Given the description of an element on the screen output the (x, y) to click on. 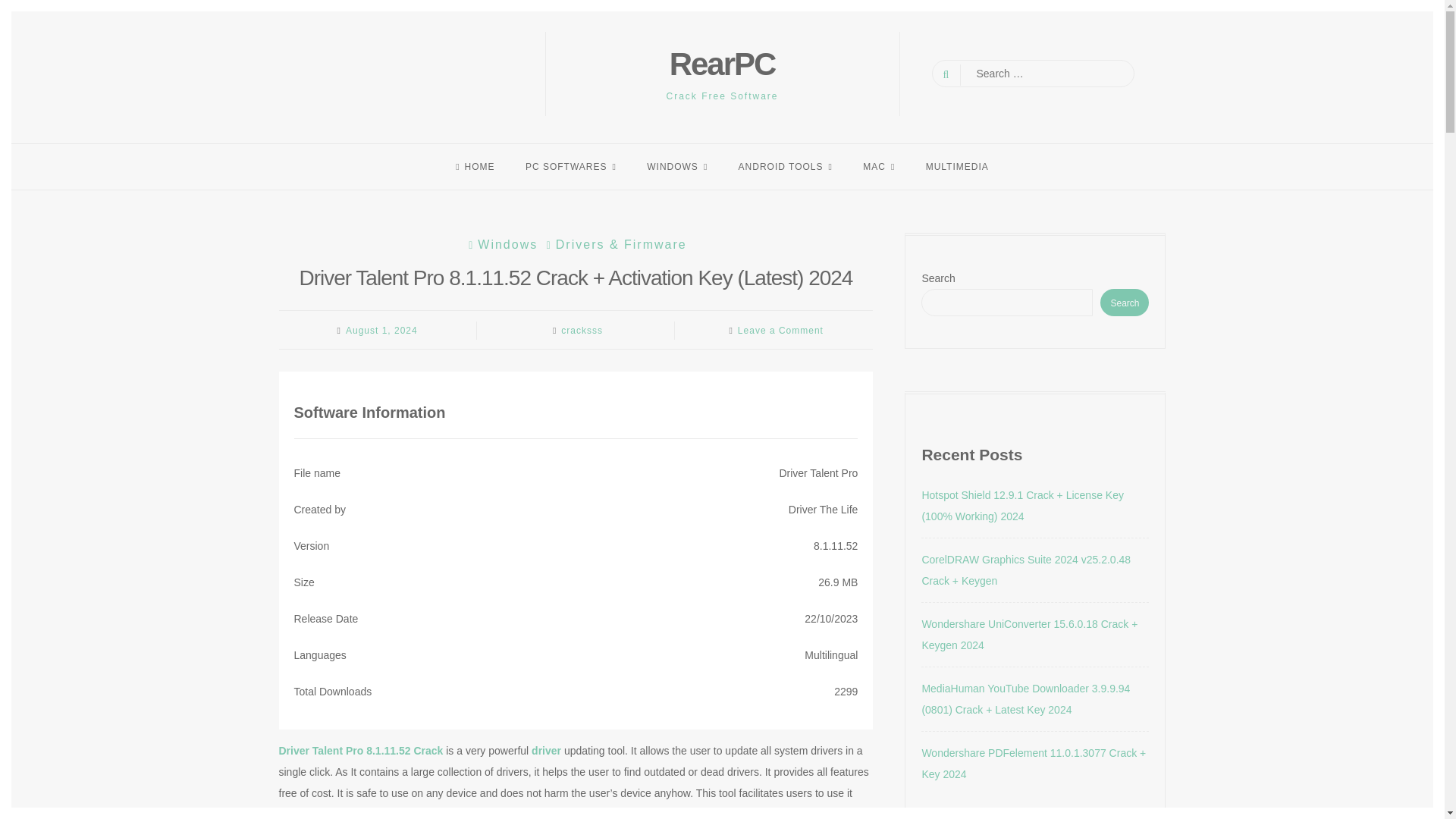
MAC (878, 166)
Driver Talent Pro 8.1.11.52 Crack (361, 750)
WINDOWS (676, 166)
MULTIMEDIA (957, 166)
PC SOFTWARES (571, 166)
RearPC (722, 63)
Search (24, 9)
Windows (500, 244)
ANDROID TOOLS (785, 166)
HOME (475, 166)
cracksss (581, 330)
driver (545, 750)
